Given the description of an element on the screen output the (x, y) to click on. 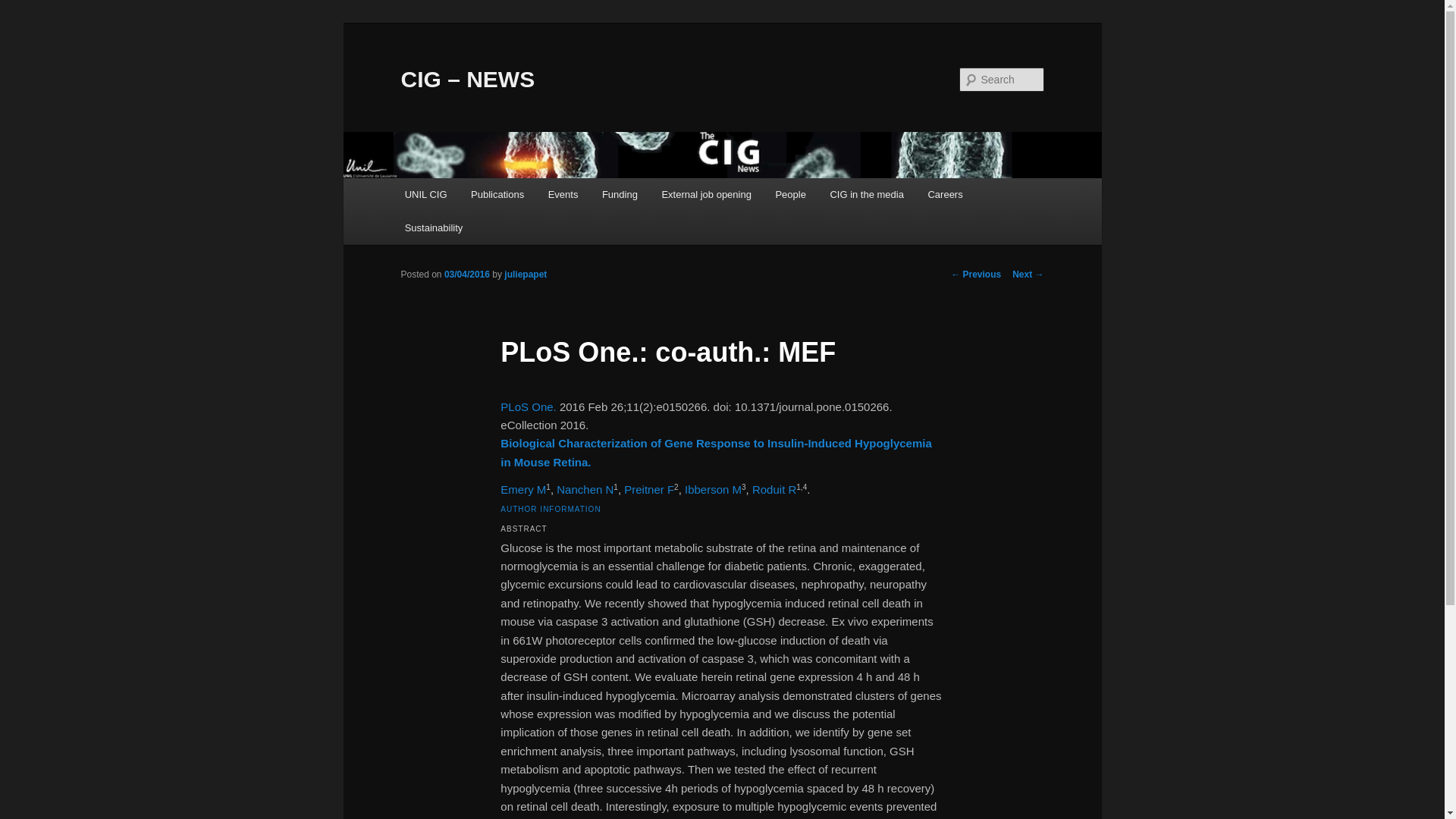
External job opening (705, 194)
UNIL CIG (425, 194)
Events (562, 194)
Nanchen N (584, 489)
Careers (945, 194)
Preitner F (649, 489)
AUTHOR INFORMATION (549, 509)
People (790, 194)
08:41 (466, 274)
Sustainability (433, 227)
PloS one. (528, 406)
juliepapet (525, 274)
Publications (496, 194)
CIG in the media (866, 194)
